Given the description of an element on the screen output the (x, y) to click on. 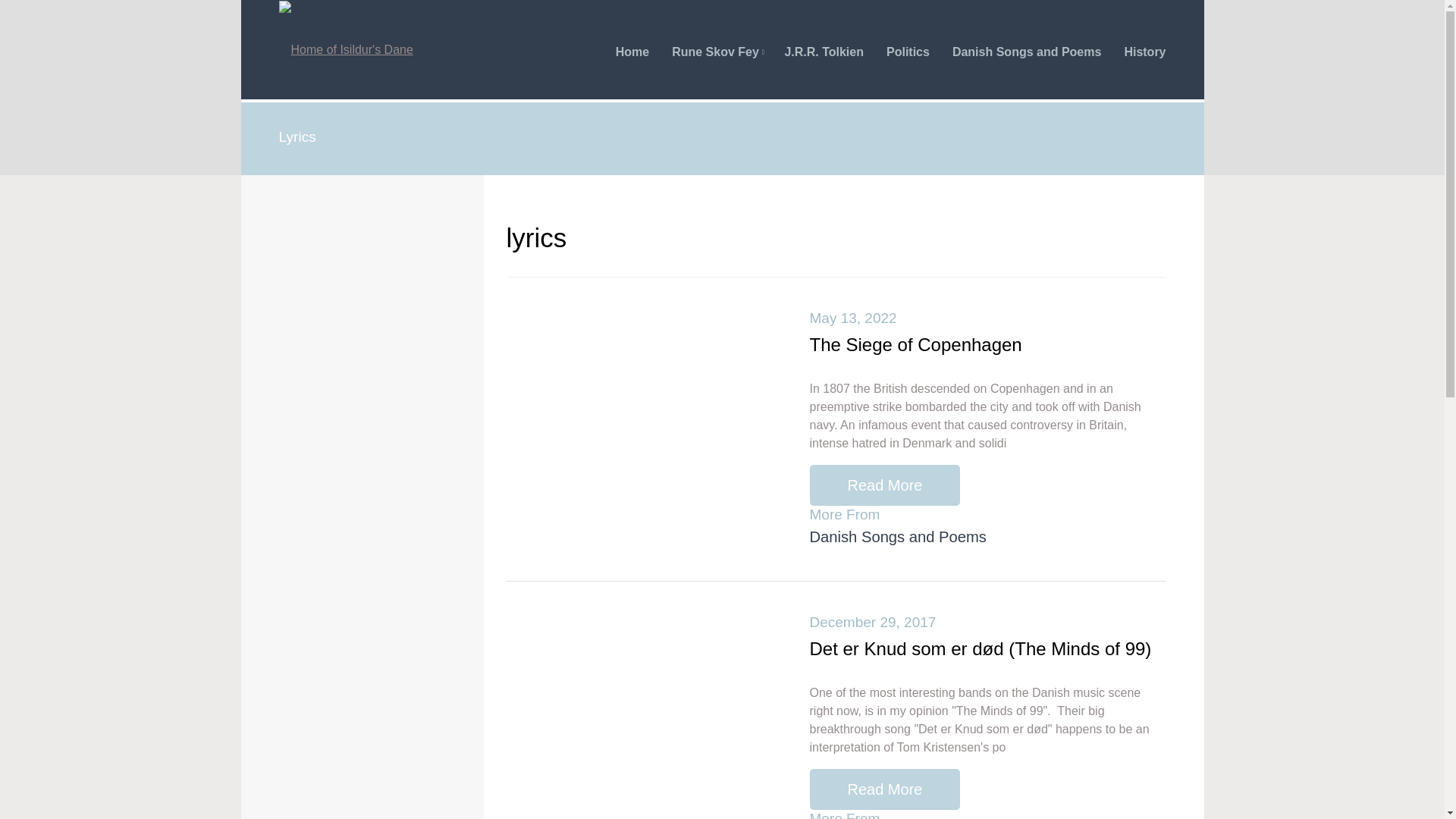
Home (632, 52)
Rune Skov Fey (716, 52)
Danish Songs and Poems (898, 536)
Danish Songs and Poems (1026, 52)
The Siege of Copenhagen (915, 344)
Read More (884, 485)
Politics (908, 52)
Read More (884, 789)
J.R.R. Tolkien (823, 52)
History (1145, 52)
